Given the description of an element on the screen output the (x, y) to click on. 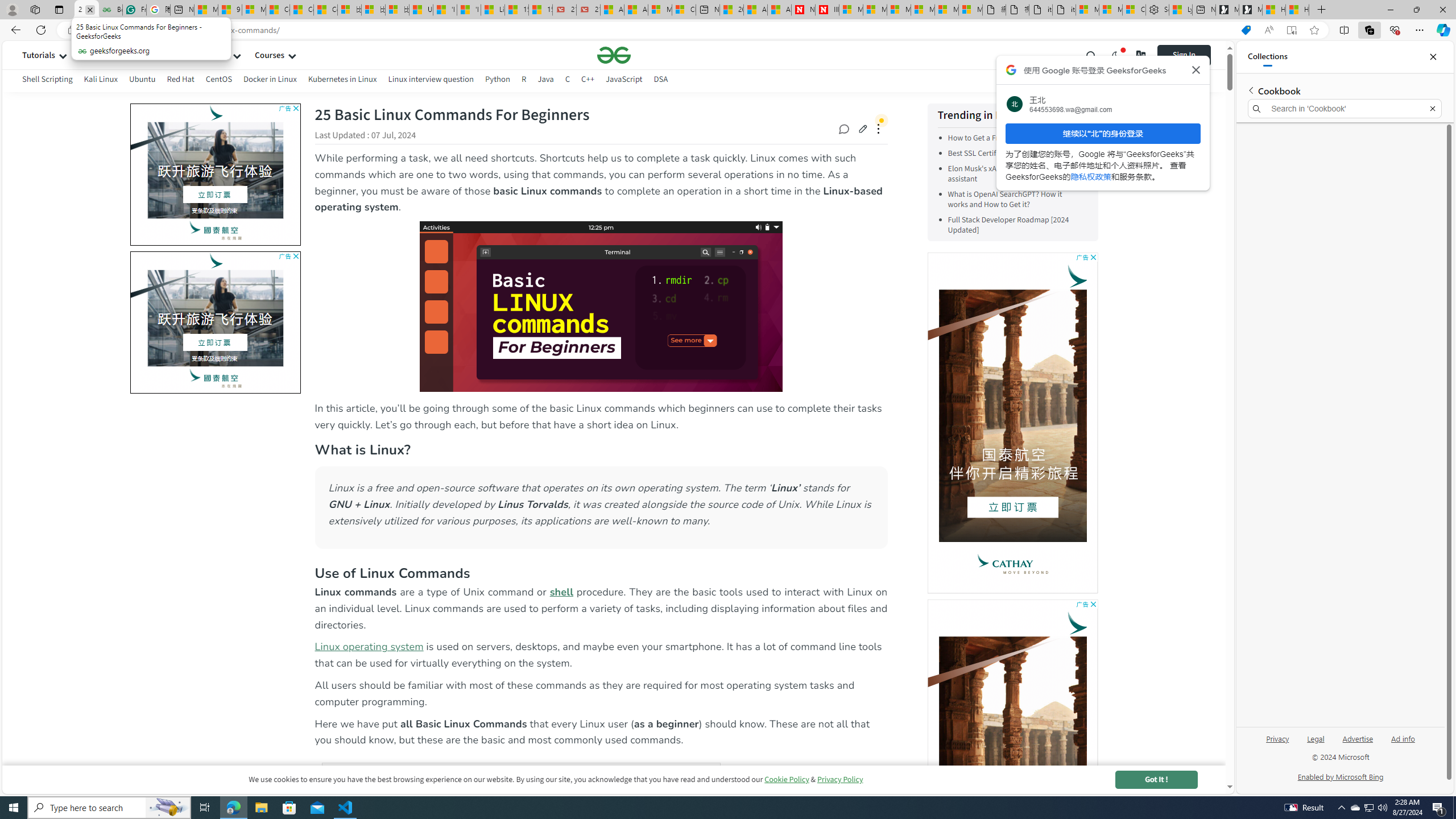
Lightbox (613, 417)
itconcepthk.com/projector_solutions.mp4 (1064, 9)
Legal (1315, 742)
Red Hat (180, 79)
What is OpenAI SearchGPT? How it works and How to Get it? (1015, 199)
C++ (587, 80)
AutomationID: wheel (127, 250)
Courses (268, 55)
Elon Musk's xAI releases Grok-2 AI assistant (1002, 173)
Docker in Linux (269, 80)
Linux operating system (368, 646)
C++ (587, 79)
